Given the description of an element on the screen output the (x, y) to click on. 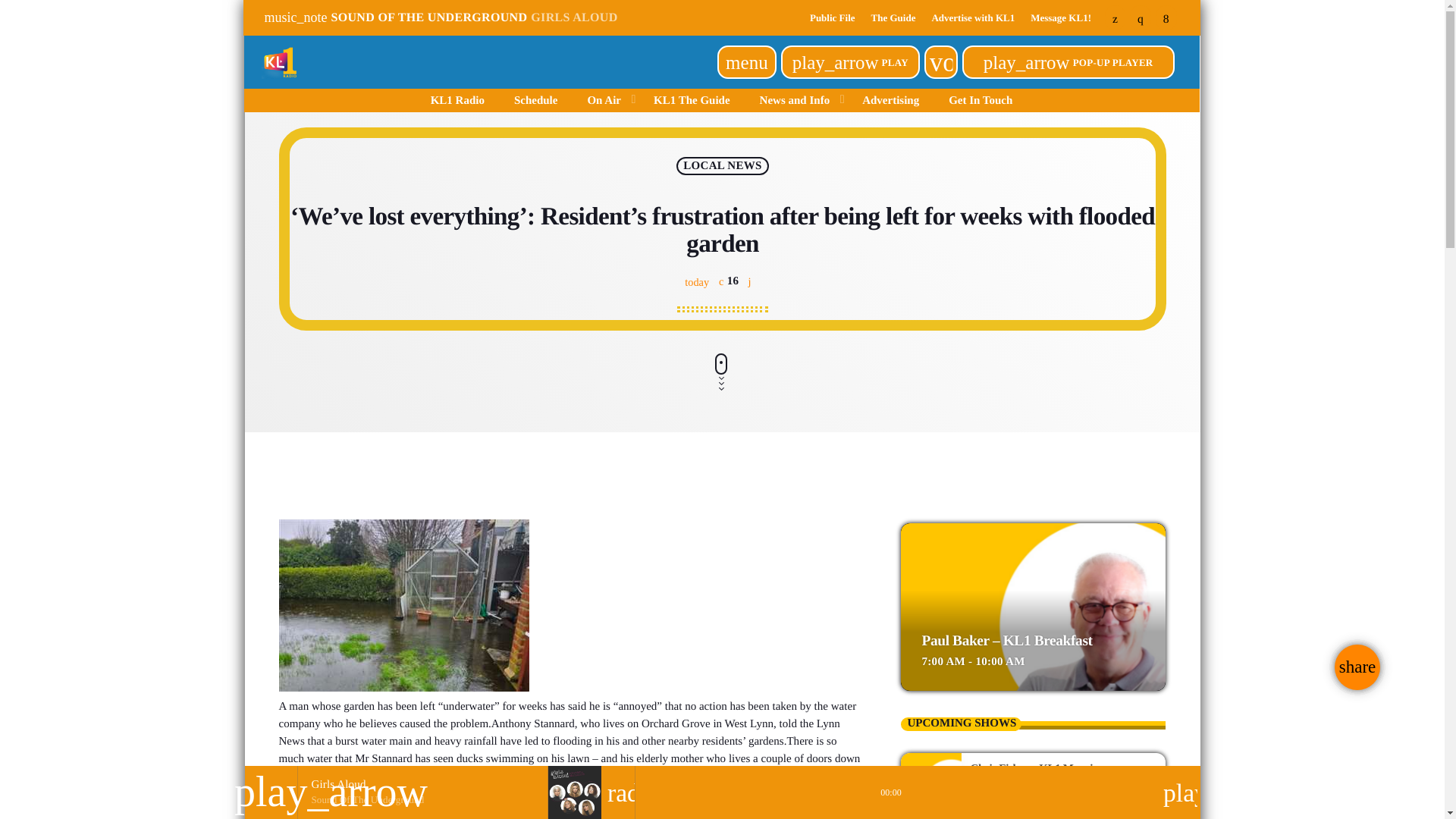
Public File (832, 16)
menu (746, 61)
Advertising (890, 100)
News and Info (795, 100)
Get In Touch (980, 100)
Advertise with KL1 (972, 16)
Message KL1! (1060, 16)
KL1 The Guide (692, 100)
Schedule (535, 100)
KL1 Radio (456, 100)
The Guide (893, 16)
On Air (605, 100)
